Given the description of an element on the screen output the (x, y) to click on. 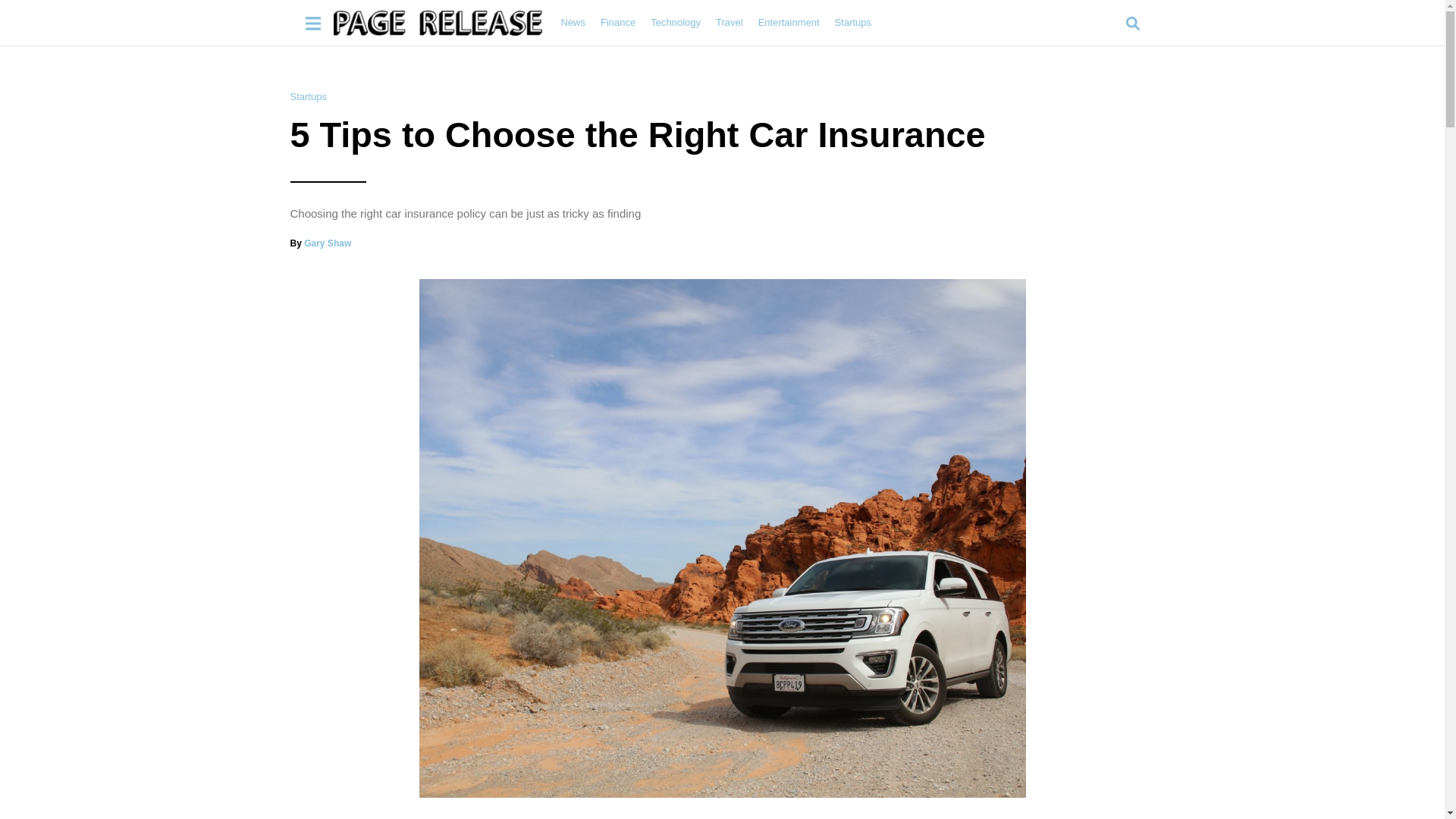
Travel (729, 22)
Startups (853, 22)
News (573, 22)
Technology (675, 22)
Entertainment (789, 22)
Startups (307, 96)
By Gary Shaw (319, 243)
Finance (617, 22)
